Given the description of an element on the screen output the (x, y) to click on. 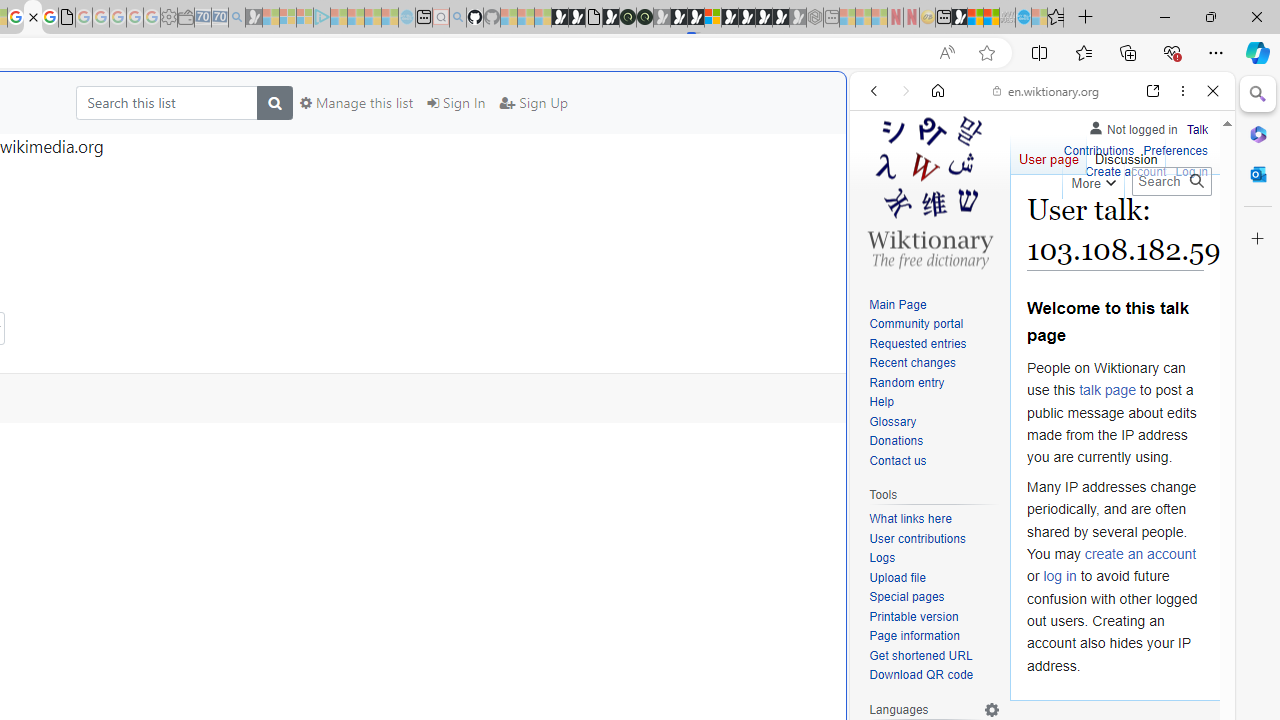
Search or enter web address (343, 191)
Main Page (897, 303)
Upload file (934, 578)
create an account (1140, 553)
User contributions (917, 538)
